Given the description of an element on the screen output the (x, y) to click on. 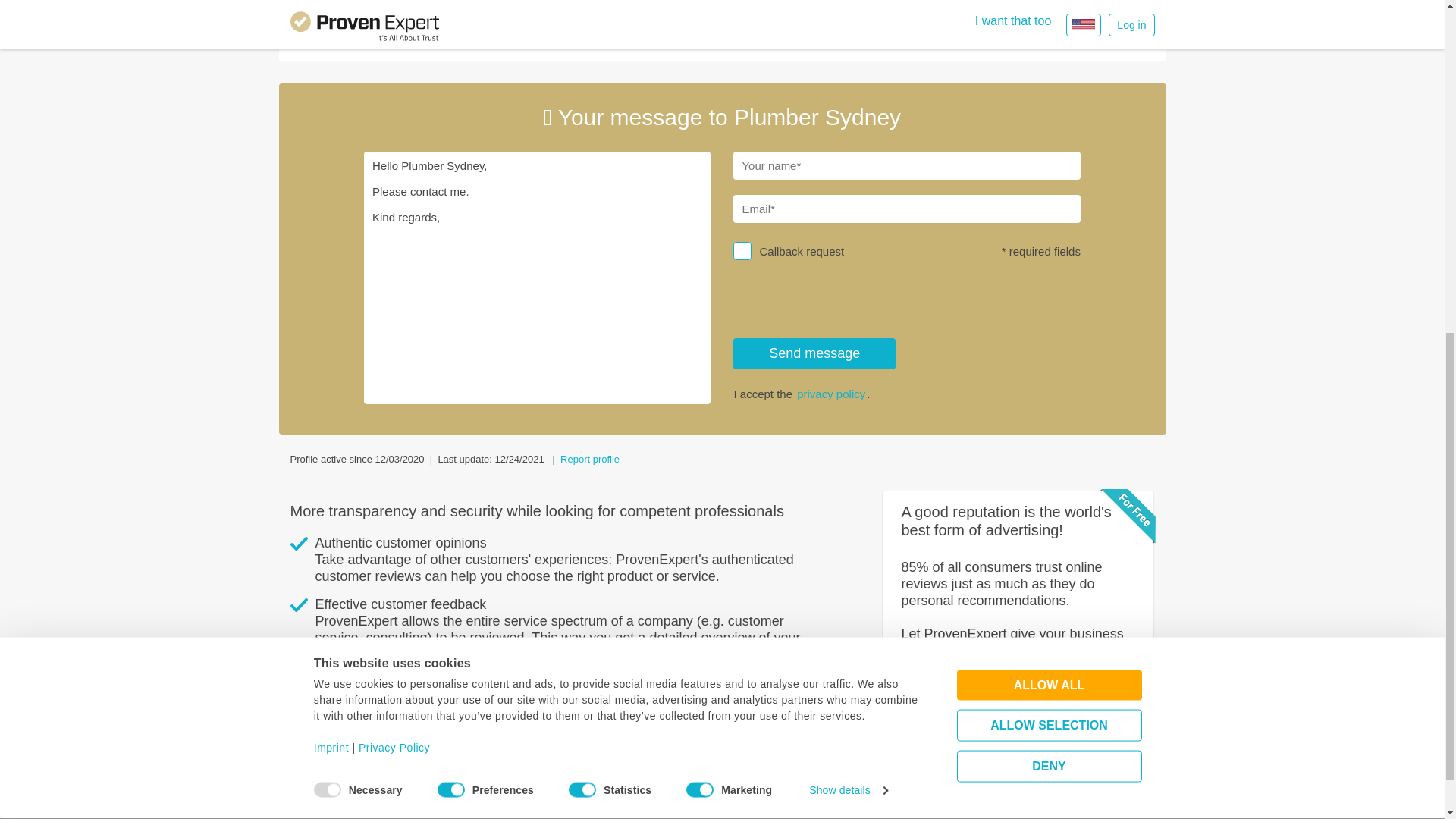
Imprint (331, 159)
Privacy Policy (393, 159)
Show details (847, 201)
